Given the description of an element on the screen output the (x, y) to click on. 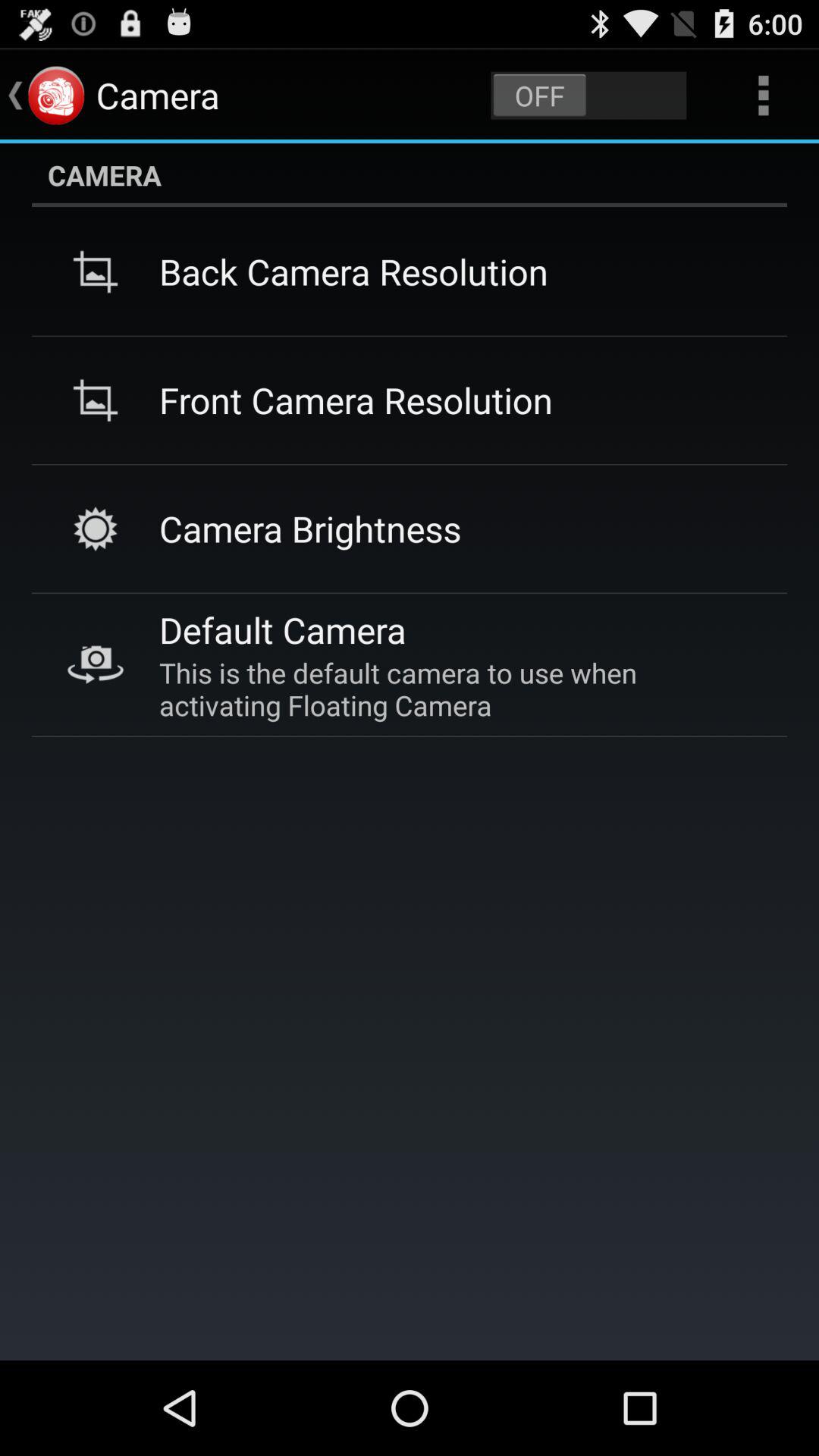
press item above the camera (588, 95)
